Given the description of an element on the screen output the (x, y) to click on. 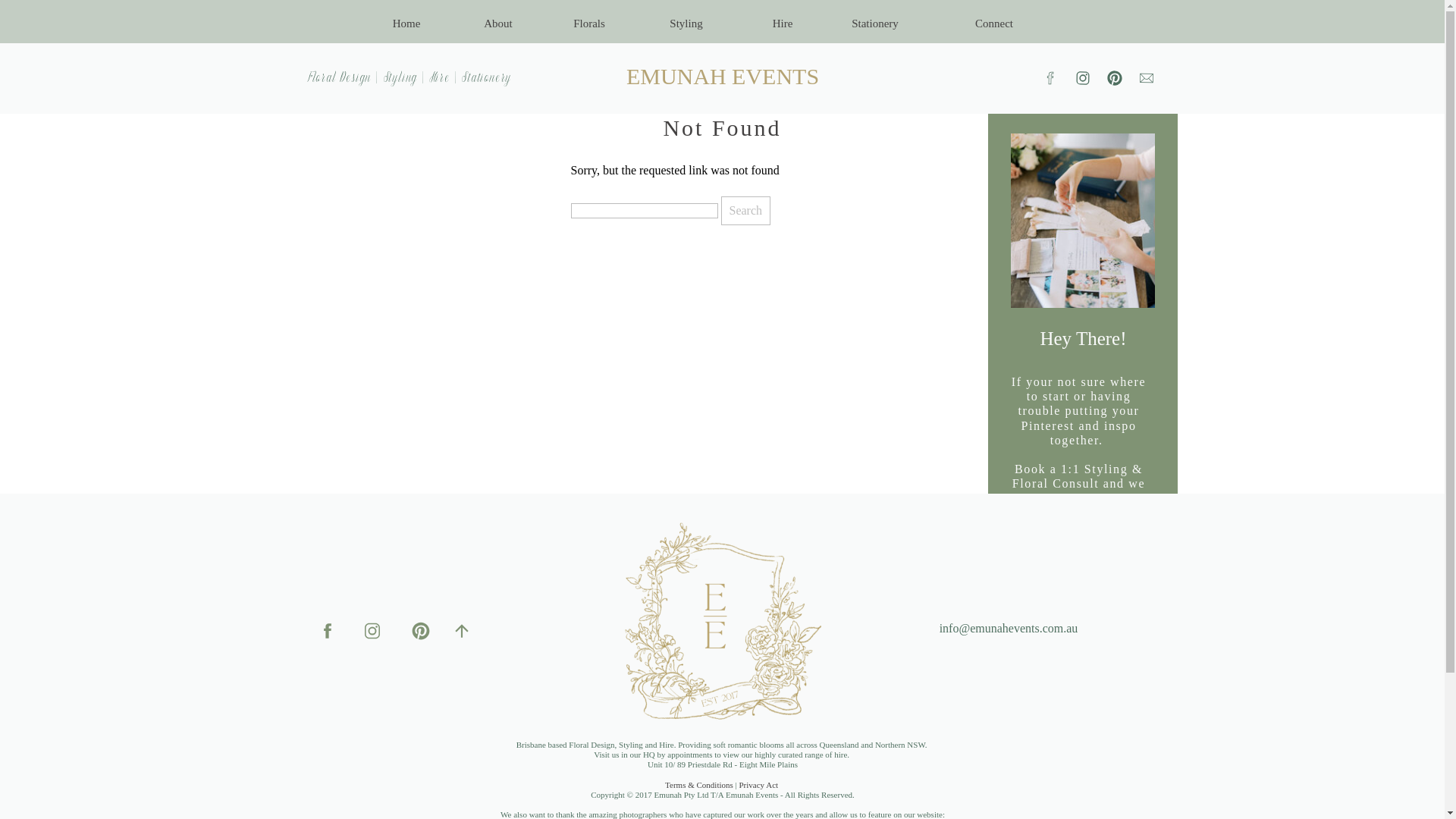
Florals Element type: text (589, 22)
info@emunahevents.com.au Element type: text (1007, 629)
Hire Element type: text (781, 22)
Search Element type: text (745, 210)
About Element type: text (498, 22)
Book Here Element type: text (1083, 546)
Home Element type: text (405, 22)
Privacy Act  Element type: text (758, 784)
Styling Element type: text (686, 22)
Connect Element type: text (994, 25)
Terms & Conditions Element type: text (699, 784)
Stationery Element type: text (874, 22)
